Given the description of an element on the screen output the (x, y) to click on. 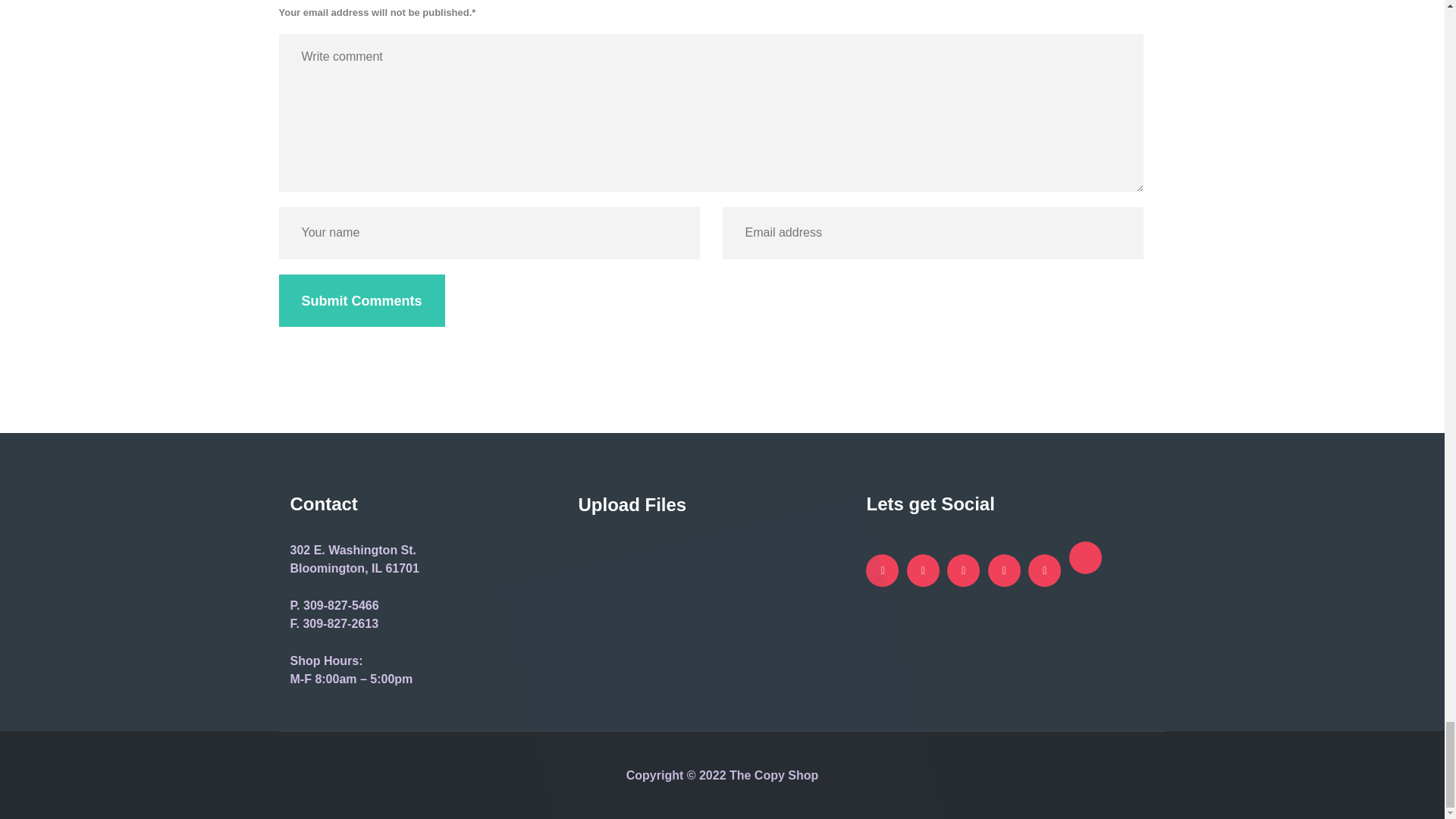
Submit Comments (362, 300)
